Given the description of an element on the screen output the (x, y) to click on. 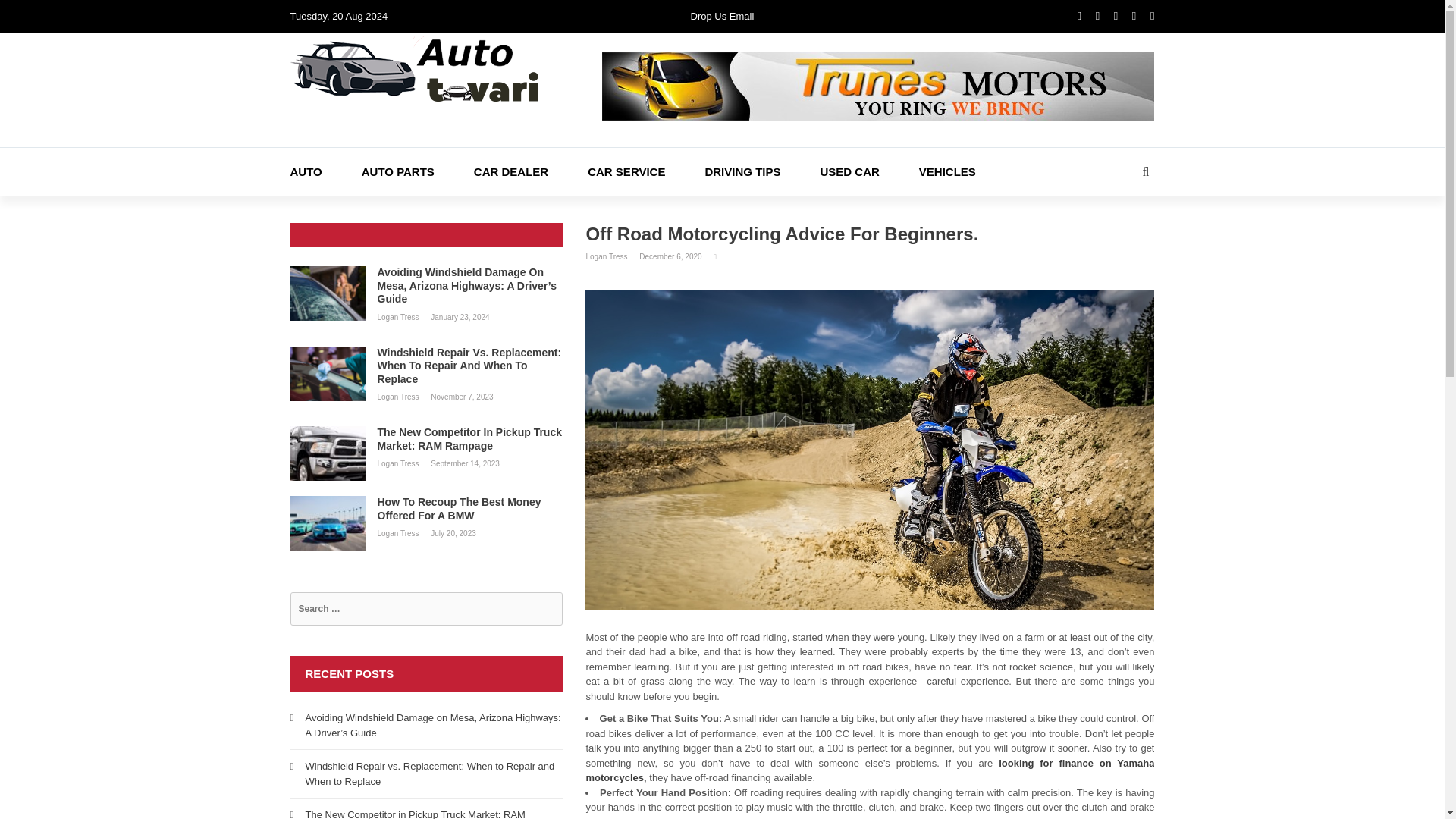
USED CAR (868, 171)
Car Service (646, 171)
Used Car (868, 171)
Driving Tips (761, 171)
The New Competitor In Pickup Truck Market: RAM Rampage (425, 438)
The New Competitor in Pickup Truck Market: RAM Rampage (414, 814)
Logan Tress (399, 397)
CAR DEALER (531, 171)
Drop Us Email (722, 16)
How To Recoup The Best Money Offered For A BMW (425, 509)
